Given the description of an element on the screen output the (x, y) to click on. 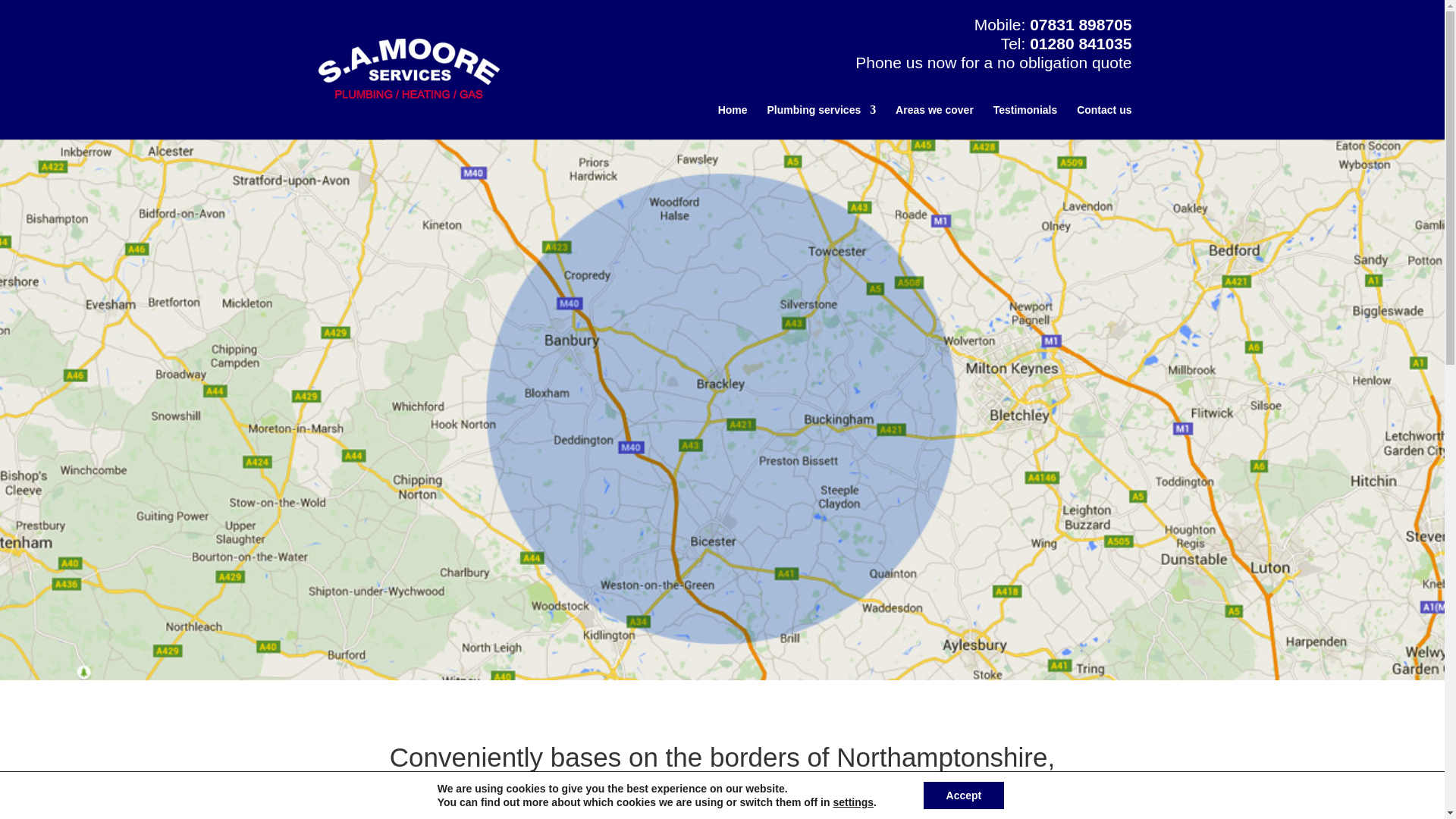
Plumbing services (821, 121)
Accept (963, 795)
Areas we cover (934, 121)
Testimonials (1025, 121)
Contact us (1104, 121)
